Given the description of an element on the screen output the (x, y) to click on. 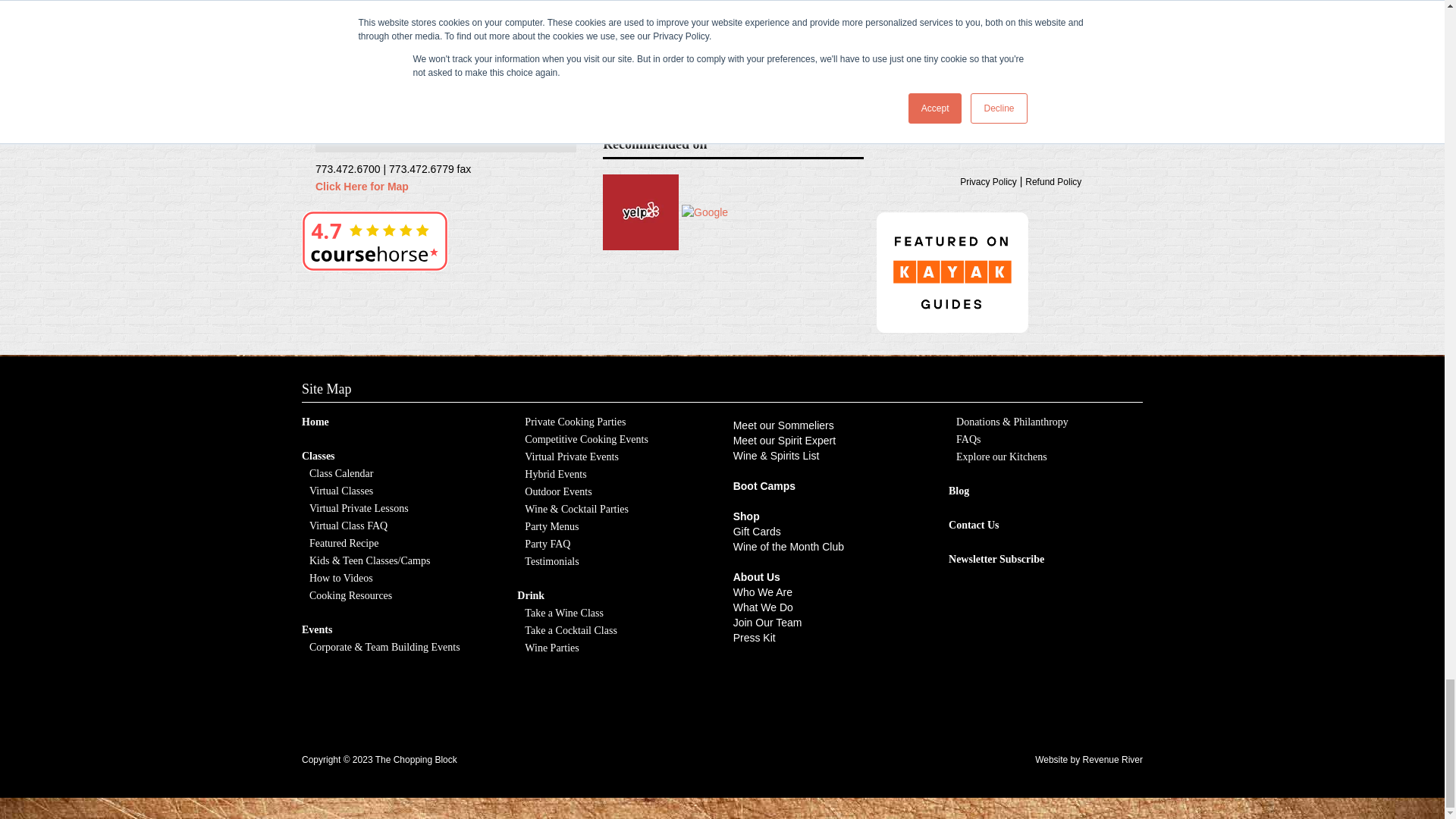
yelplogo.png (640, 212)
